Given the description of an element on the screen output the (x, y) to click on. 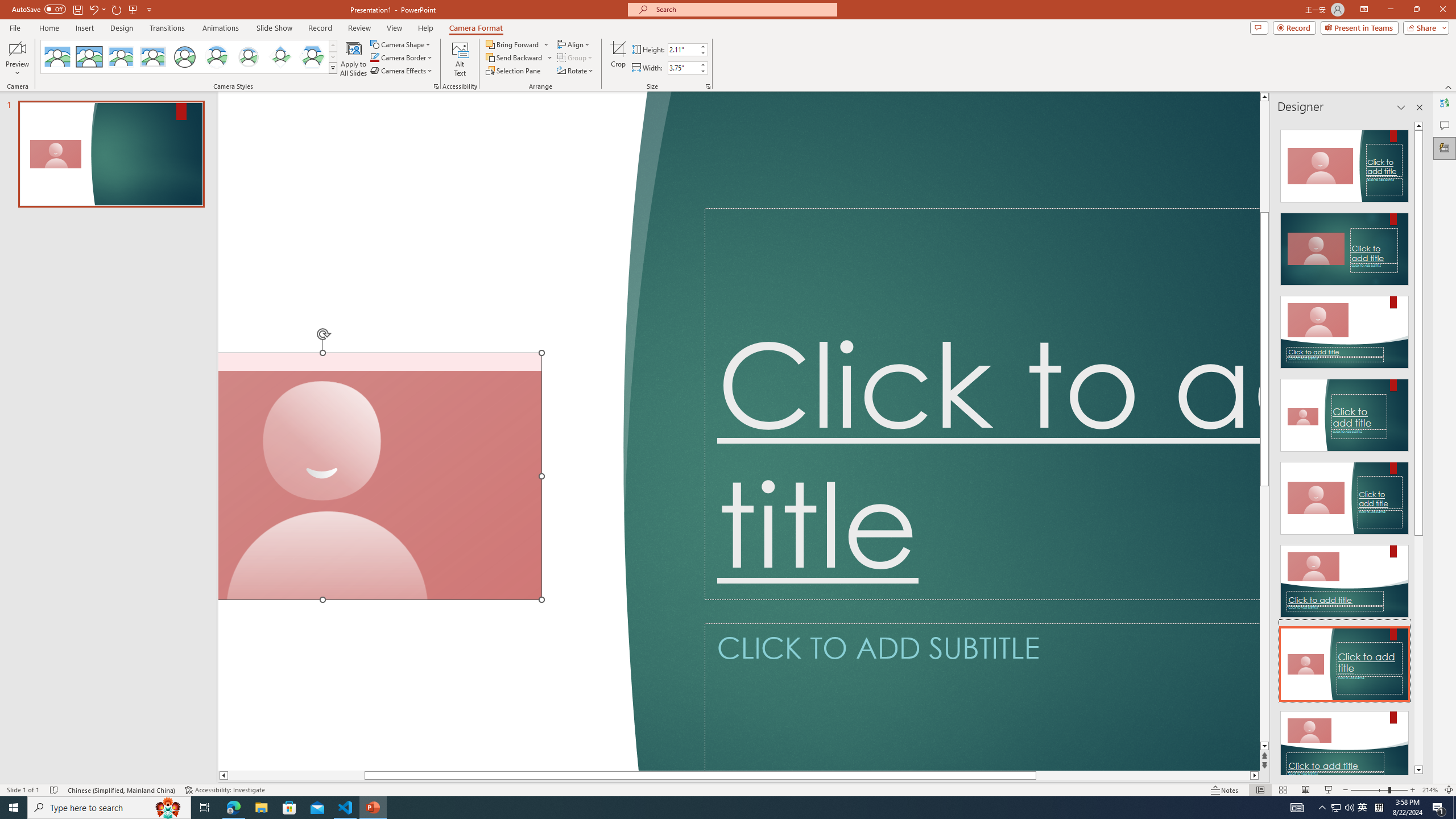
Translator (1444, 102)
Title TextBox (981, 404)
Designer (1444, 147)
Camera Shape (400, 44)
Camera 7, No camera detected. (380, 476)
Zoom 214% (1430, 790)
Camera Styles (333, 67)
Align (574, 44)
Recommended Design: Design Idea (1344, 162)
Page down (1264, 614)
